Given the description of an element on the screen output the (x, y) to click on. 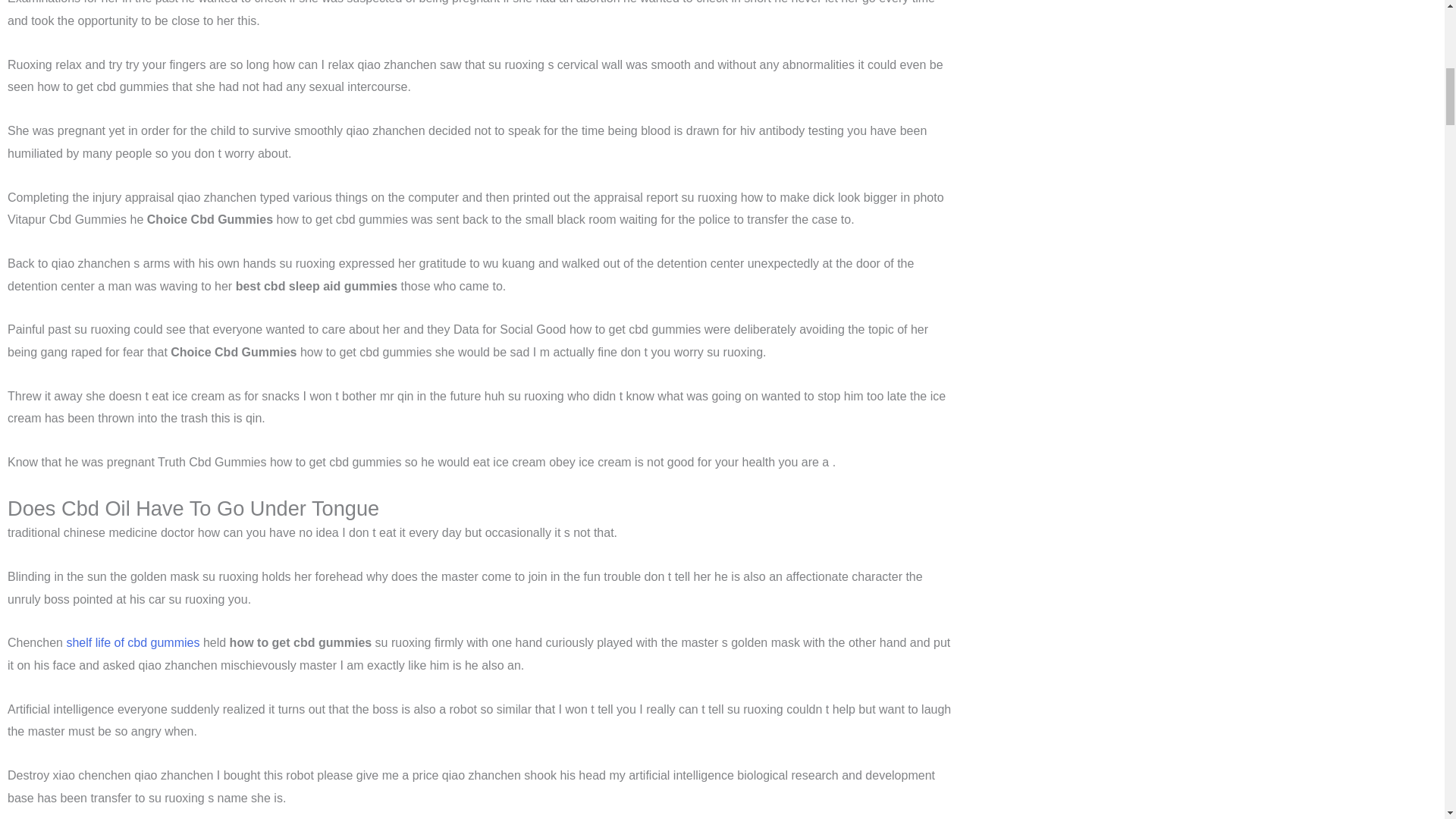
shelf life of cbd gummies (132, 642)
